Given the description of an element on the screen output the (x, y) to click on. 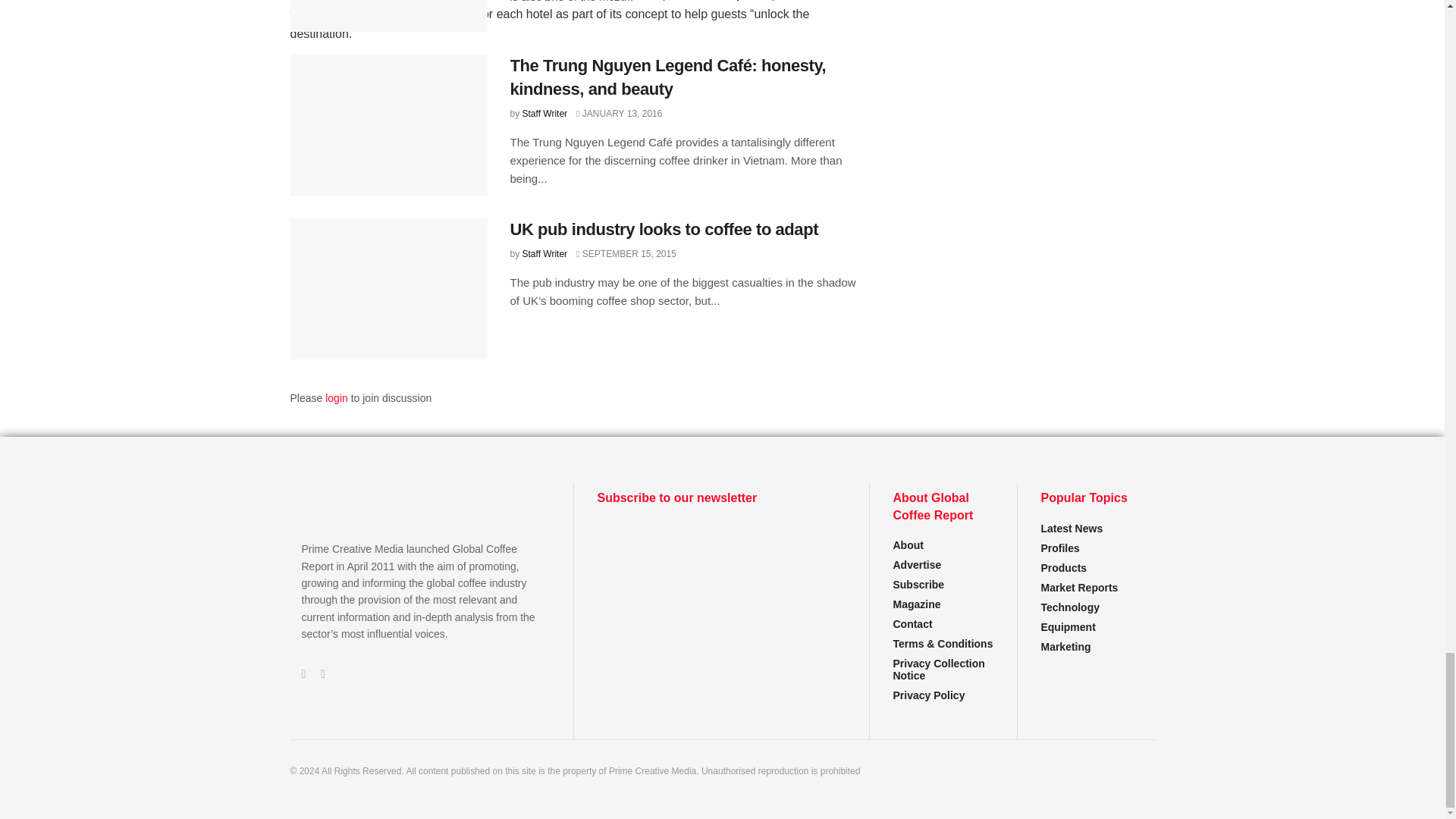
Newsletter signup for Footer (720, 579)
